Given the description of an element on the screen output the (x, y) to click on. 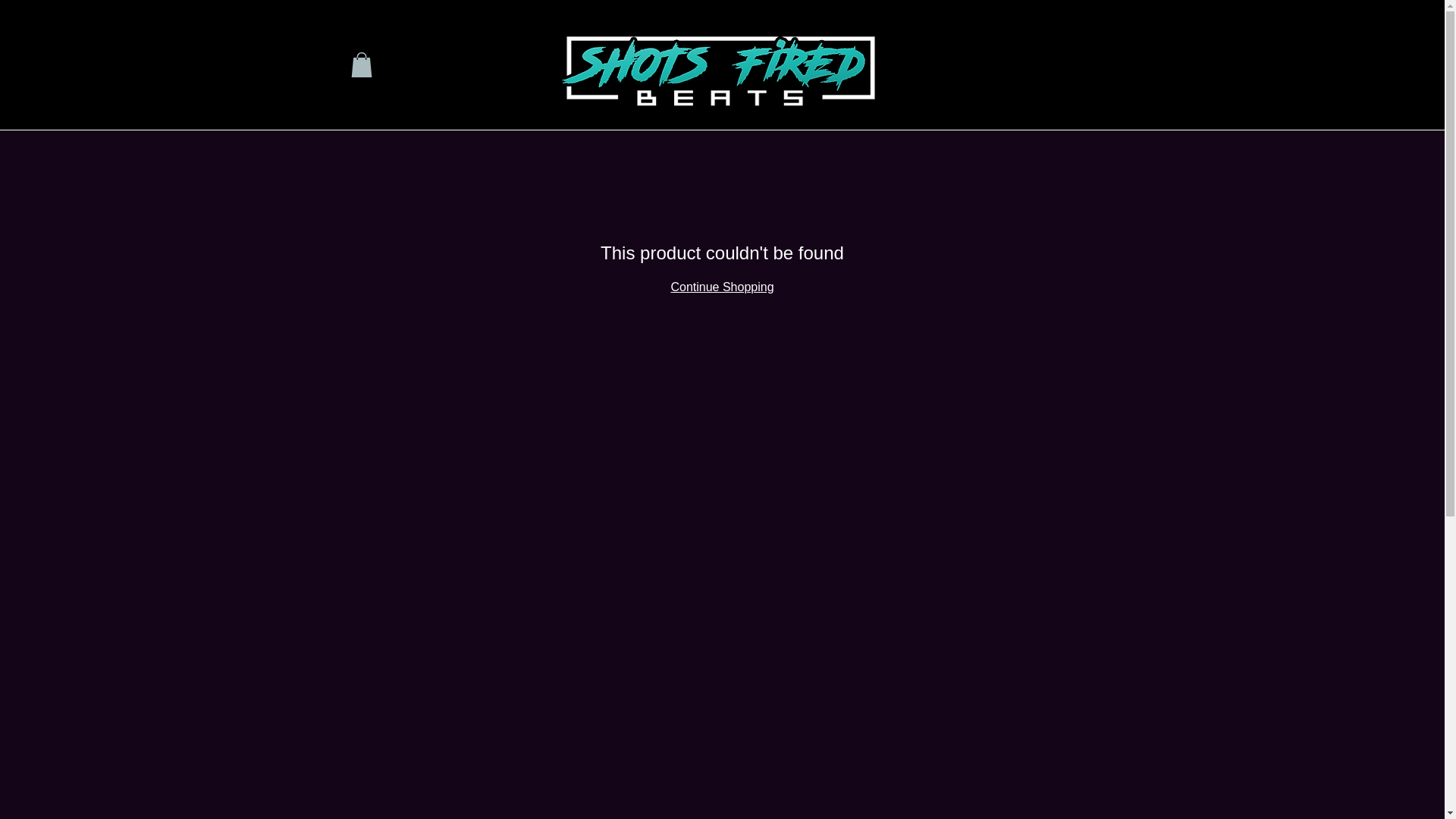
Continue Shopping (721, 286)
